Given the description of an element on the screen output the (x, y) to click on. 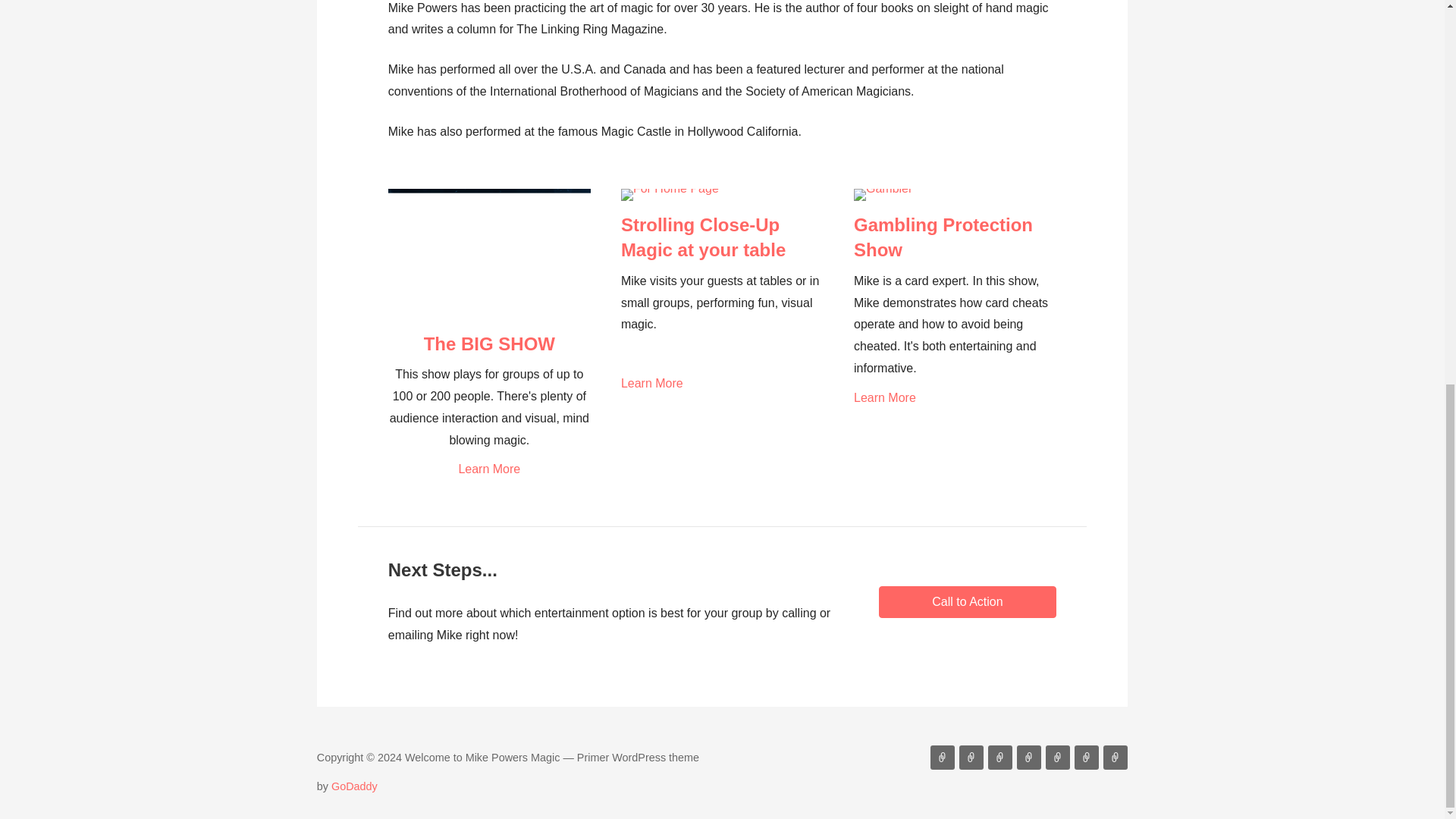
Learn More (489, 469)
Gallery (1114, 757)
Services (971, 757)
Home (942, 757)
Learn More (955, 398)
Contact Us (1028, 757)
GoDaddy (354, 786)
Gambling Protection Show (942, 237)
Strolling Close-Up Magic at your table (703, 237)
FAQ (1057, 757)
